Given the description of an element on the screen output the (x, y) to click on. 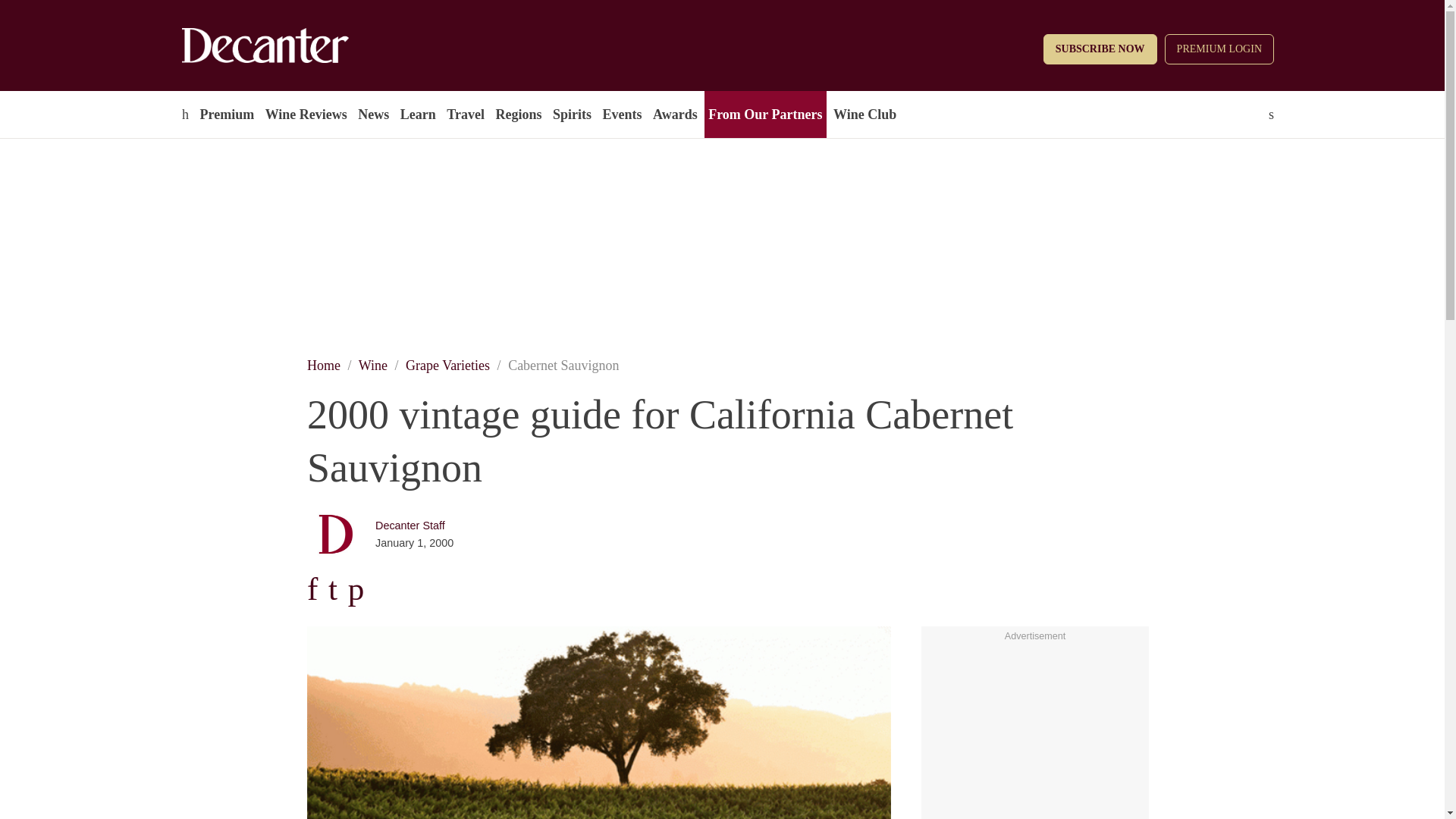
Learn (417, 114)
Awards (675, 114)
Wine Reviews (306, 114)
Decanter (297, 45)
Premium (226, 114)
Travel (464, 114)
